Given the description of an element on the screen output the (x, y) to click on. 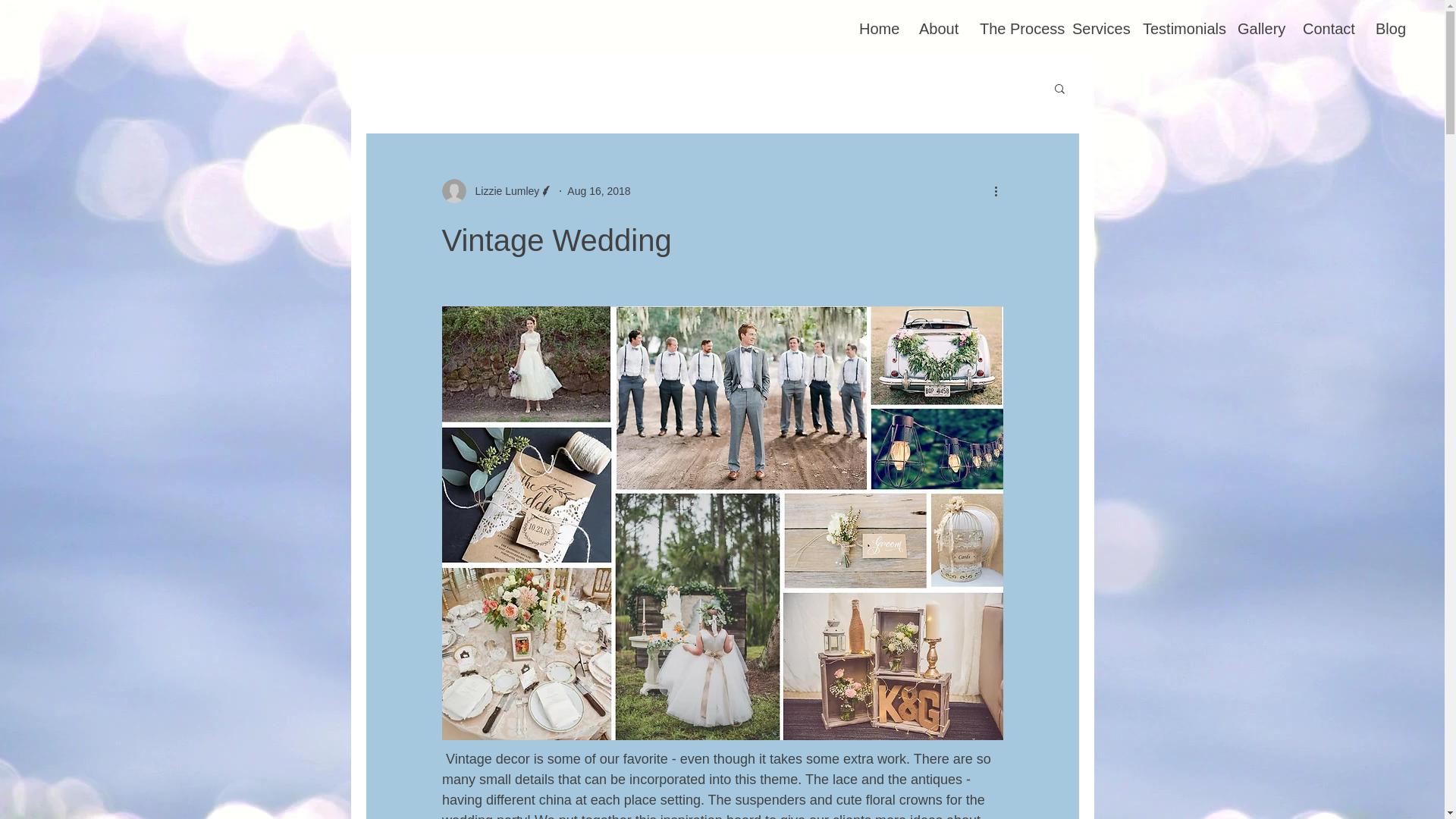
Aug 16, 2018 (598, 191)
About (937, 28)
Contact (1327, 28)
Gallery (1258, 28)
Home (877, 28)
Testimonials (1178, 28)
Blog (1388, 28)
Lizzie Lumley (501, 191)
The Process (1014, 28)
